Given the description of an element on the screen output the (x, y) to click on. 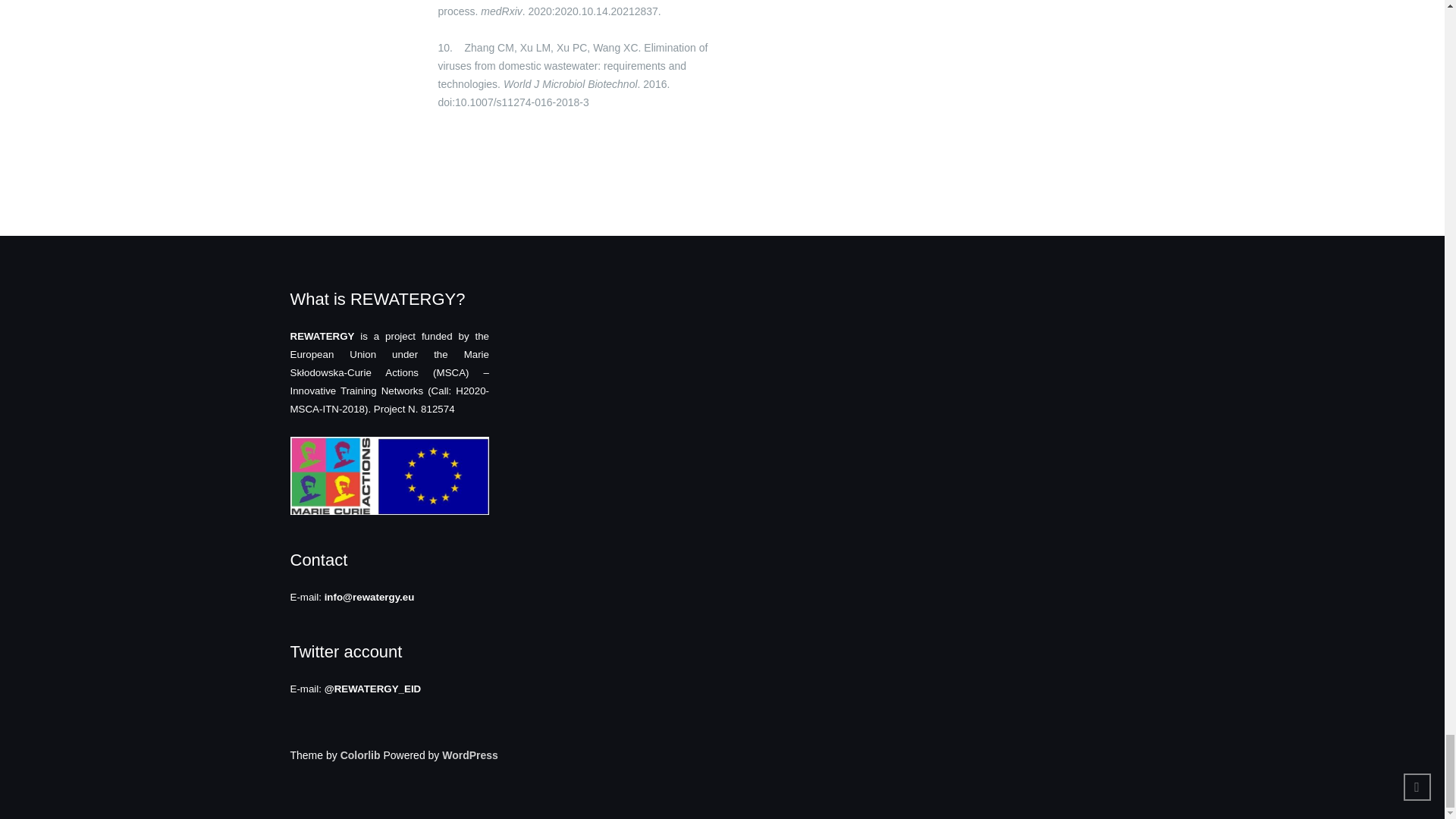
Colorlib (360, 755)
